Given the description of an element on the screen output the (x, y) to click on. 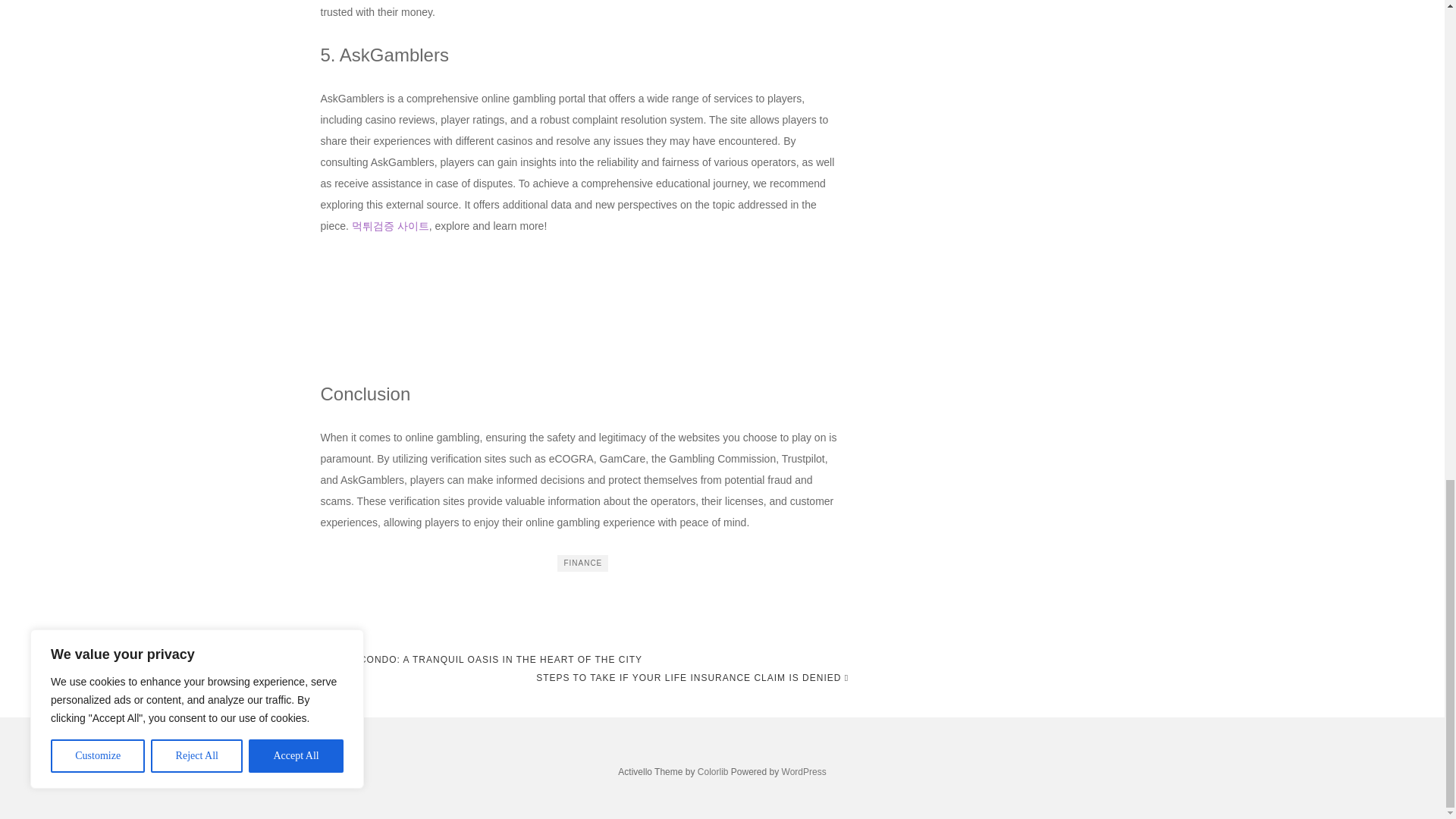
FINANCE (582, 563)
SORA CONDO: A TRANQUIL OASIS IN THE HEART OF THE CITY (481, 659)
STEPS TO TAKE IF YOUR LIFE INSURANCE CLAIM IS DENIED (691, 678)
